Given the description of an element on the screen output the (x, y) to click on. 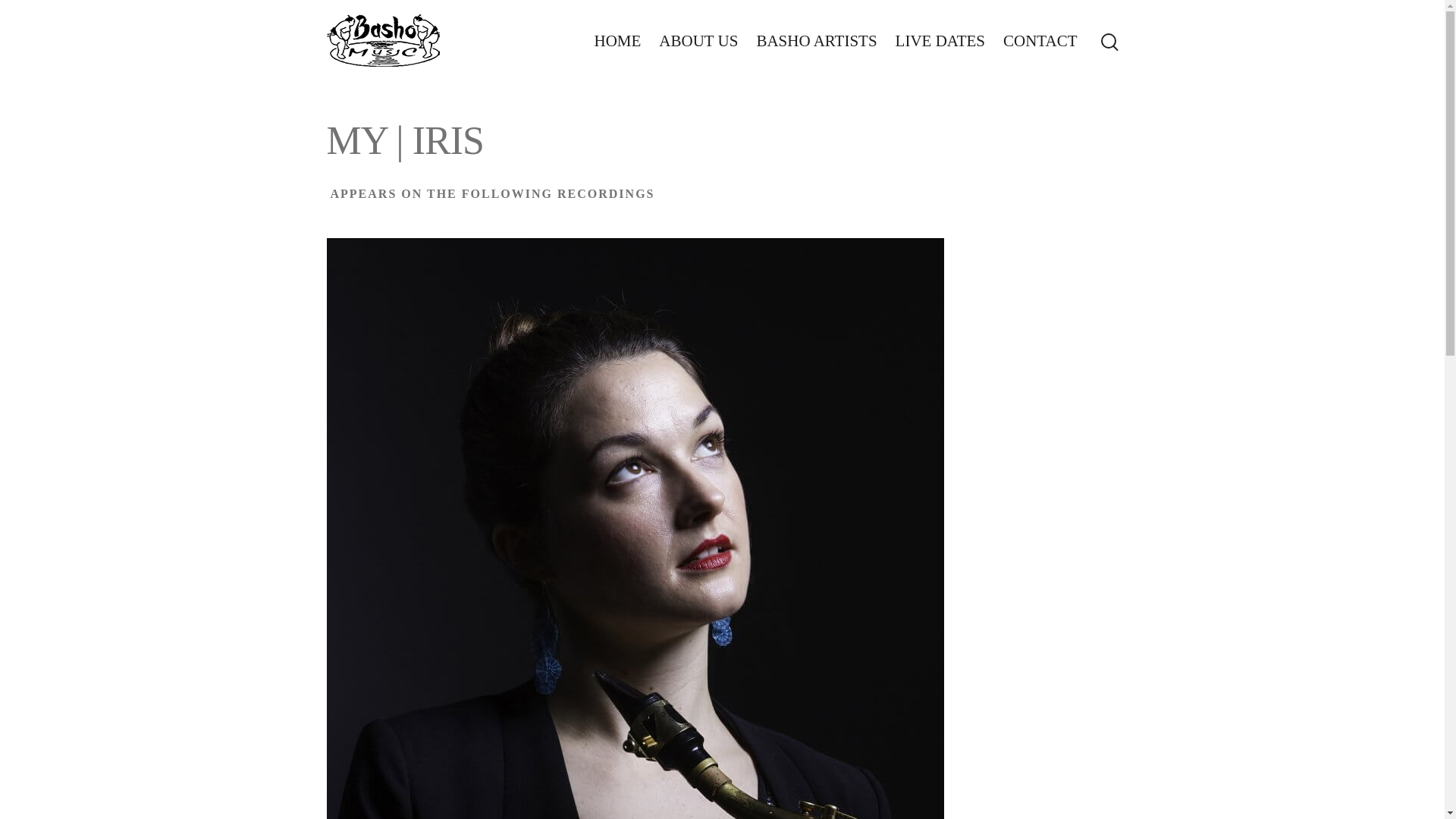
BASHO ARTISTS (815, 41)
HOME (618, 41)
Search (8, 9)
LIVE DATES (940, 41)
BASHO MUSIC (382, 40)
CONTACT (1040, 41)
ABOUT US (698, 41)
